Given the description of an element on the screen output the (x, y) to click on. 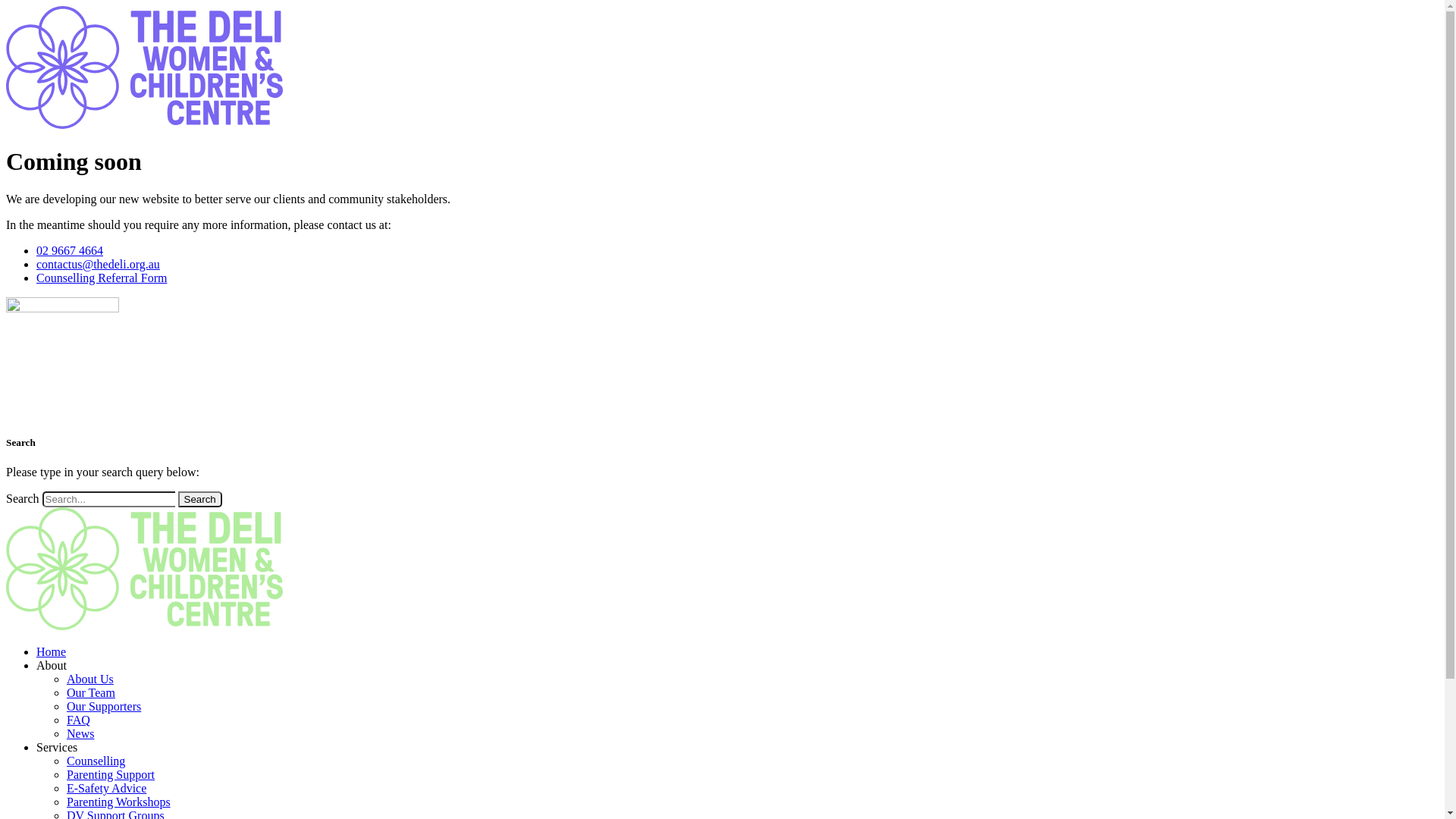
News Element type: text (80, 733)
FAQ Element type: text (78, 719)
E-Safety Advice Element type: text (106, 787)
About Element type: text (51, 664)
Counselling Element type: text (95, 760)
contactus@thedeli.org.au Element type: text (98, 263)
Home Element type: text (50, 651)
02 9667 4664 Element type: text (69, 250)
Parenting Support Element type: text (110, 774)
Our Supporters Element type: text (103, 705)
Search Element type: text (200, 499)
Our Team Element type: text (90, 692)
Parenting Workshops Element type: text (118, 801)
Counselling Referral Form Element type: text (101, 277)
Services Element type: text (56, 746)
About Us Element type: text (89, 678)
